Given the description of an element on the screen output the (x, y) to click on. 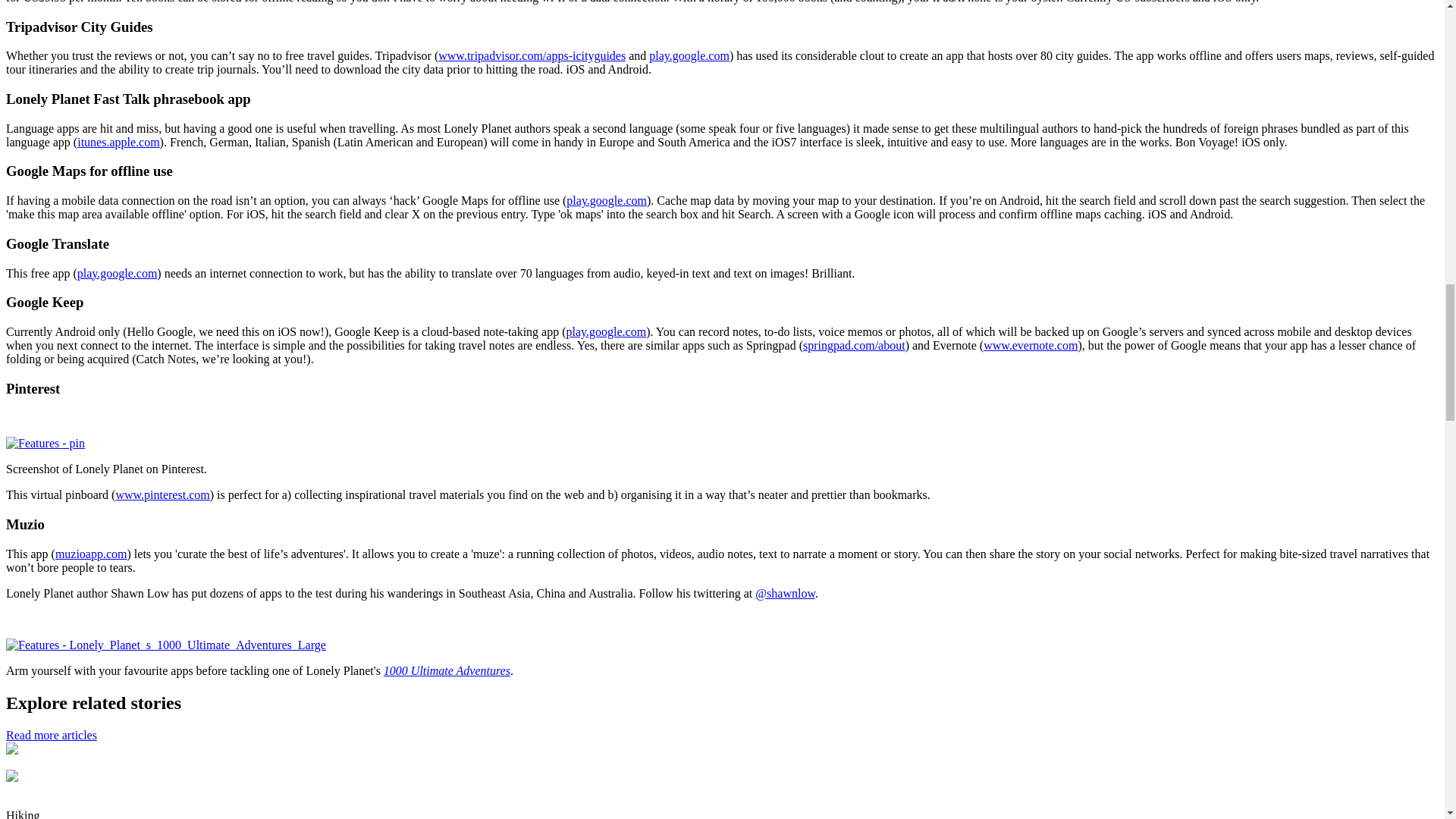
Features - pin (44, 443)
